Given the description of an element on the screen output the (x, y) to click on. 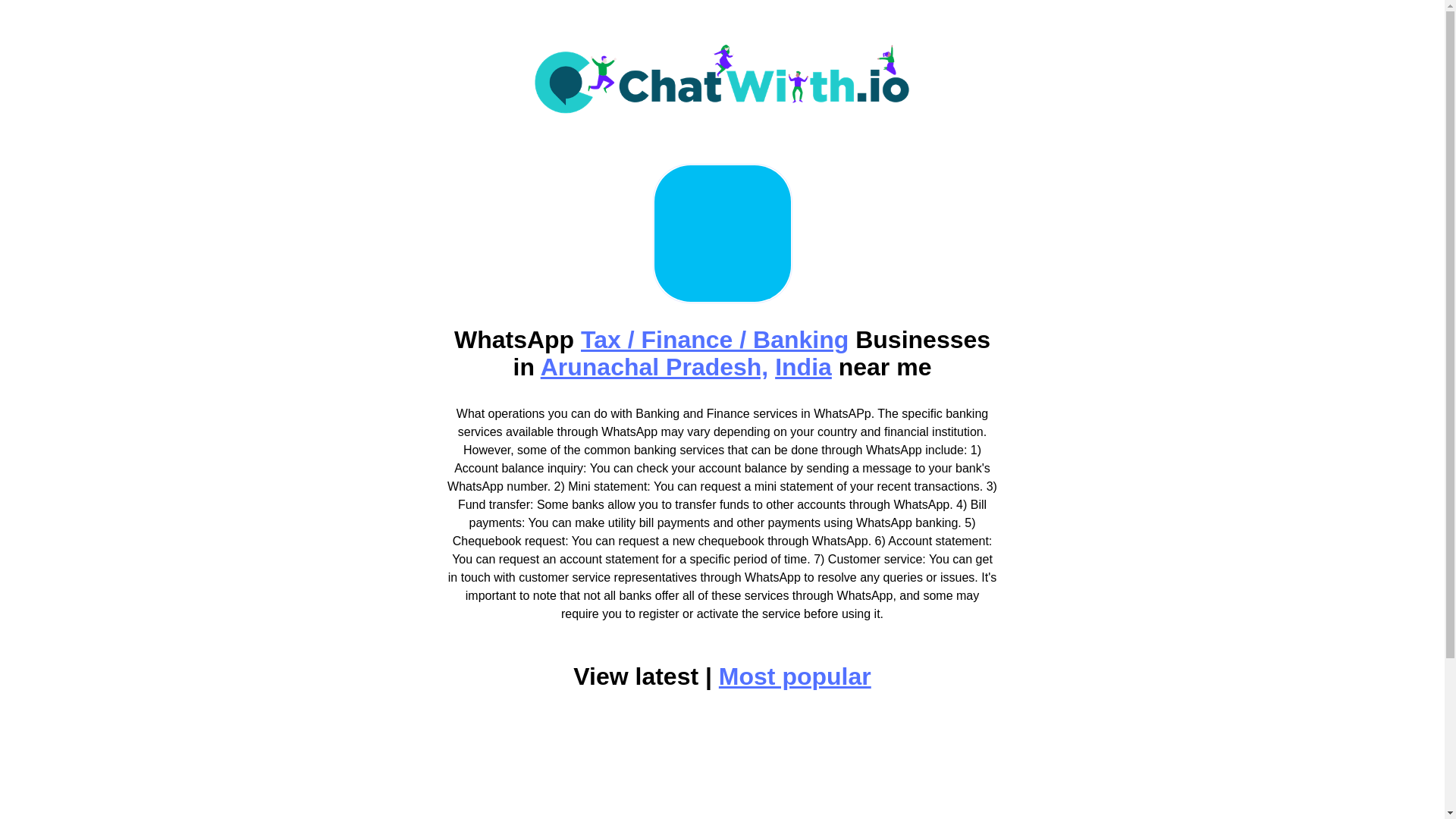
Most popular (794, 676)
Arunachal Pradesh, (654, 366)
India (802, 366)
